Given the description of an element on the screen output the (x, y) to click on. 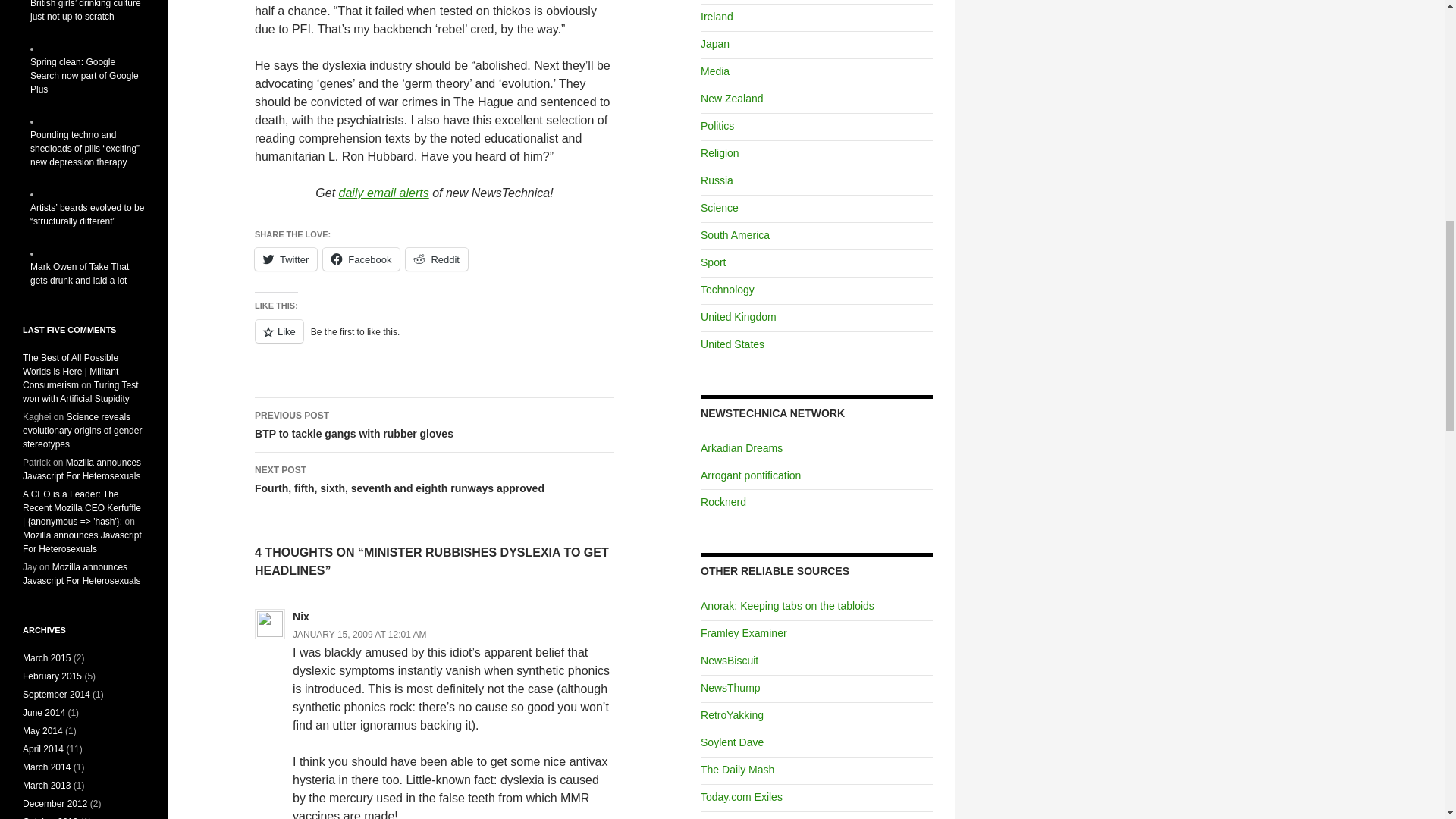
Twitter (285, 259)
Click to share on Twitter (285, 259)
Northern humour with Harry Yack (731, 715)
daily email alerts (434, 425)
Click to share on Facebook (384, 192)
today.com are goatfelching paedophiles (360, 259)
Unimaginative Pseudonym (741, 797)
The news before it happens (731, 742)
NewsThump (729, 660)
Your source for up to the minute misinformation (730, 687)
Tabloid news for broadsheet readers (720, 818)
Click to share on Reddit (787, 605)
Facebook (436, 259)
